Given the description of an element on the screen output the (x, y) to click on. 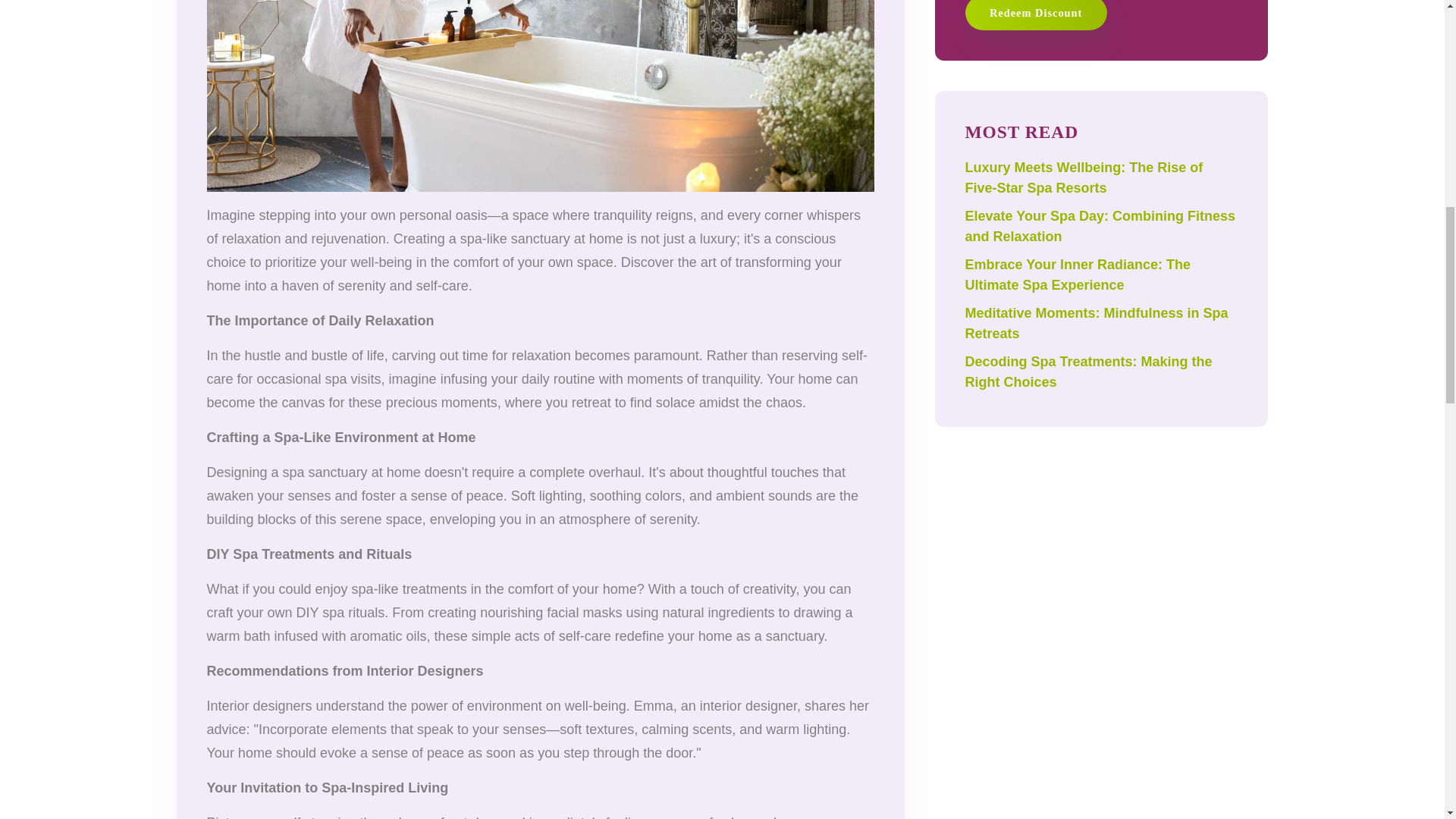
Elevate Your Spa Day: Combining Fitness and Relaxation (1098, 226)
Redeem Discount (1034, 14)
Luxury Meets Wellbeing: The Rise of Five-Star Spa Resorts (1082, 177)
Meditative Moments: Mindfulness in Spa Retreats (1095, 323)
Decoding Spa Treatments: Making the Right Choices (1087, 371)
Embrace Your Inner Radiance: The Ultimate Spa Experience (1076, 274)
